Given the description of an element on the screen output the (x, y) to click on. 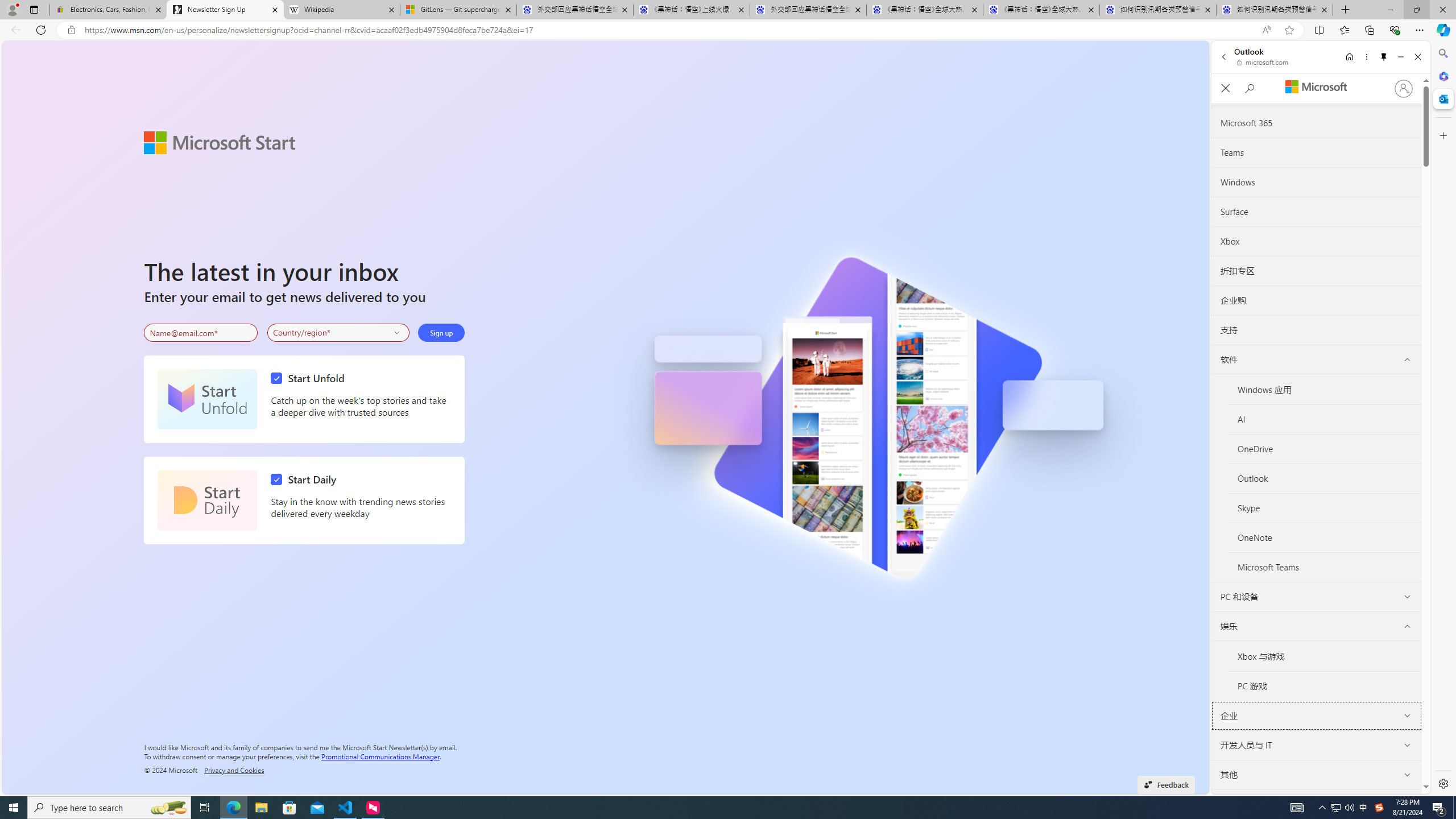
Start Daily (306, 479)
